Given the description of an element on the screen output the (x, y) to click on. 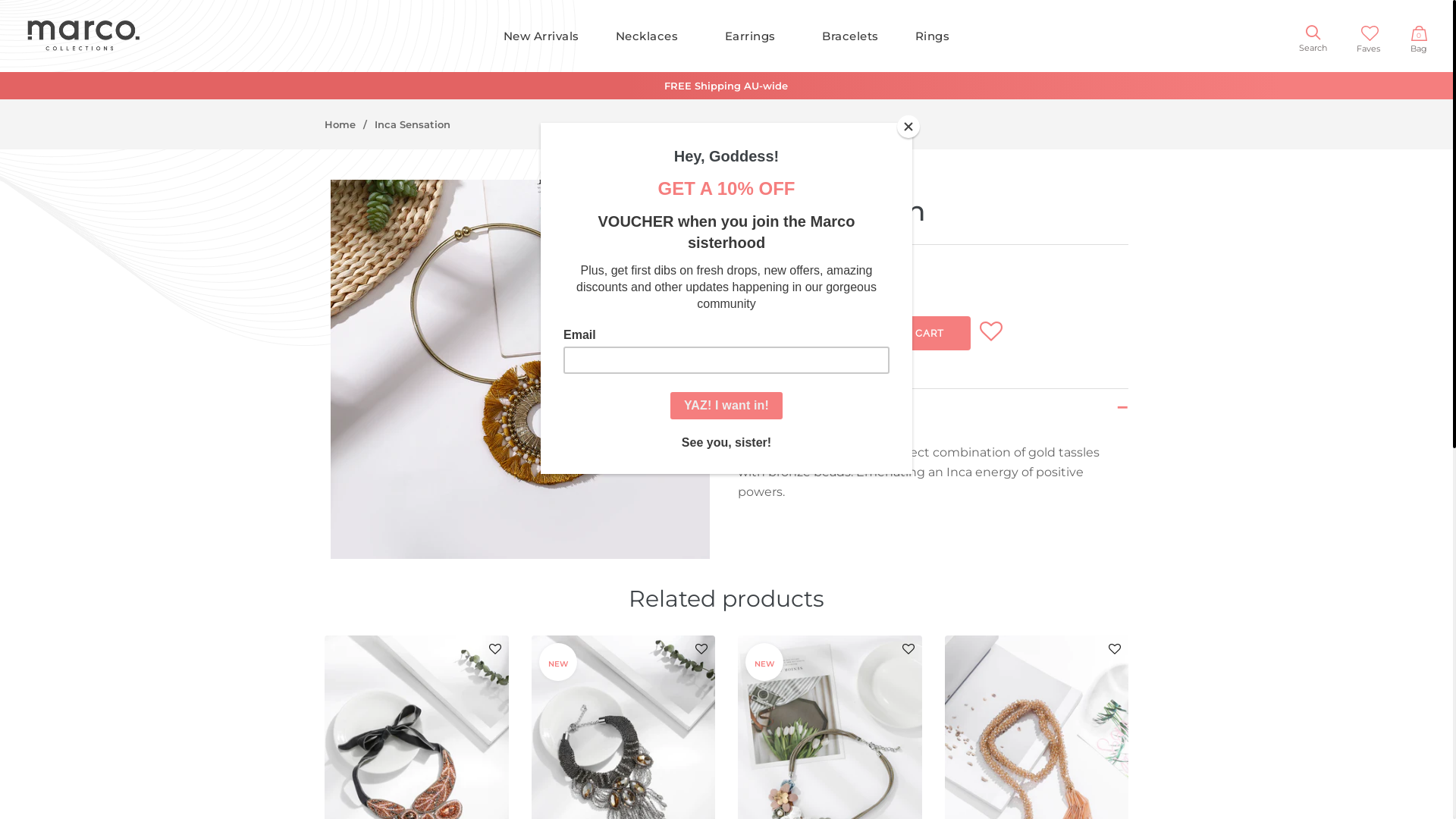
Search Element type: text (1312, 37)
0
Bag Element type: text (1418, 39)
PRODUCT INFORMATION Element type: text (932, 409)
Add to cart Element type: text (505, 89)
Faves Element type: text (1368, 37)
New Arrivals Element type: text (541, 36)
Bracelets Element type: text (850, 36)
ADD TO CART Element type: text (907, 333)
Rings Element type: text (932, 36)
Necklaces Element type: text (651, 36)
Earrings Element type: text (755, 36)
Home Element type: text (339, 124)
